Given the description of an element on the screen output the (x, y) to click on. 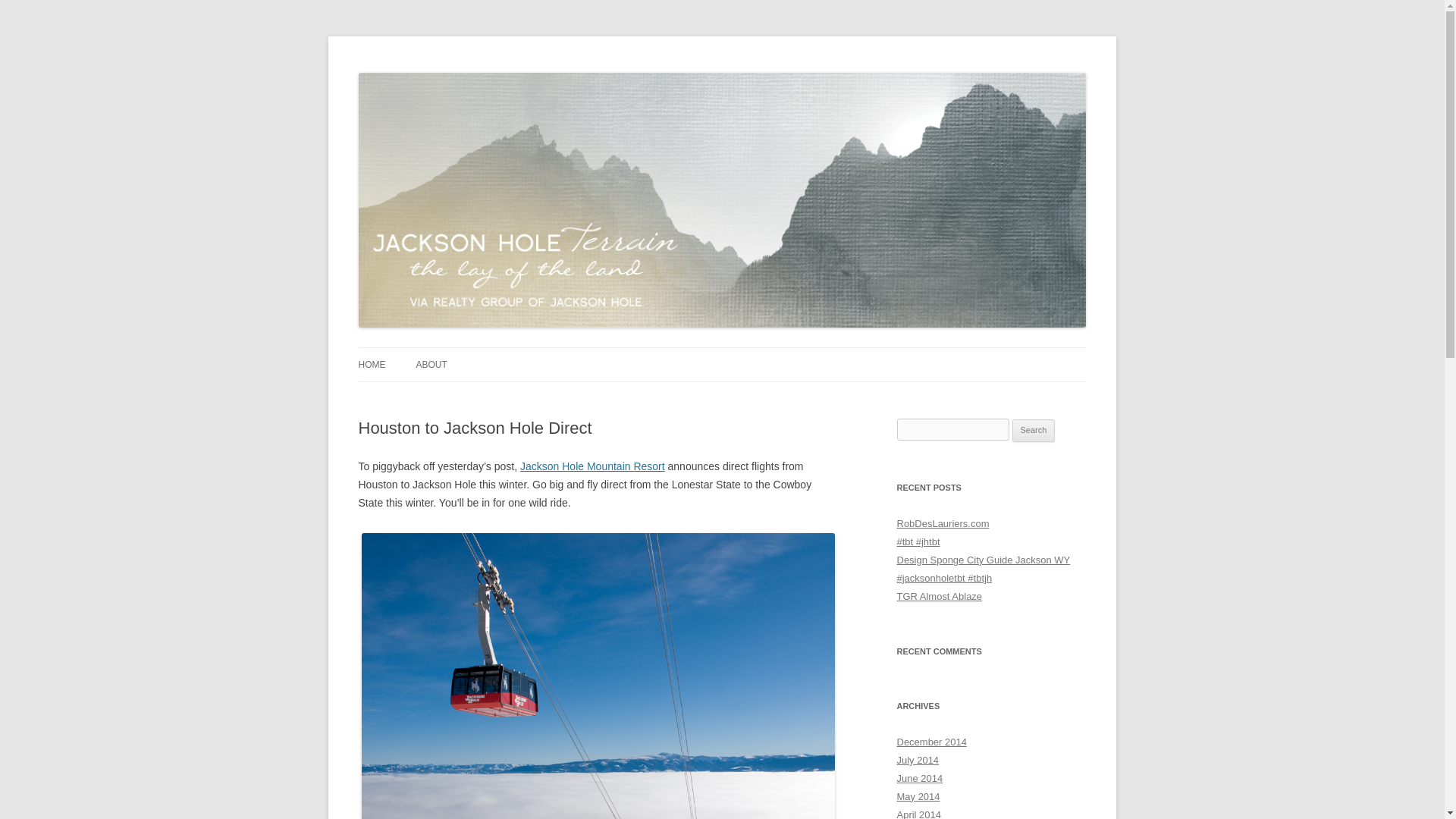
Search (1033, 430)
June 2014 (919, 778)
TGR Almost Ablaze (938, 595)
July 2014 (917, 759)
Jackson Hole Terrain (457, 72)
Jackson Hole Mountain Resort (592, 466)
Skip to content (757, 352)
December 2014 (931, 741)
April 2014 (918, 814)
Design Sponge City Guide Jackson WY (983, 559)
Skip to content (757, 352)
May 2014 (917, 796)
ABOUT (430, 364)
Jackson Hole Terrain (457, 72)
Search (1033, 430)
